Given the description of an element on the screen output the (x, y) to click on. 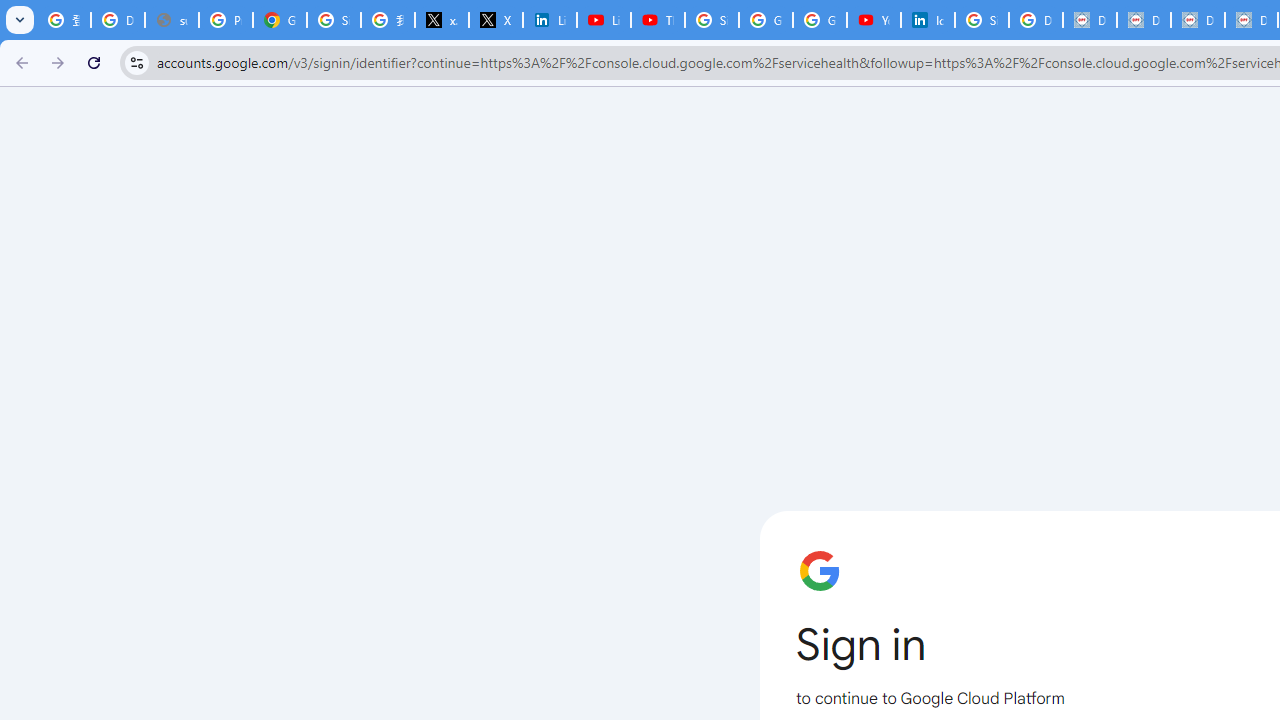
LinkedIn Privacy Policy (550, 20)
LinkedIn - YouTube (604, 20)
Data Privacy Framework (1197, 20)
